Given the description of an element on the screen output the (x, y) to click on. 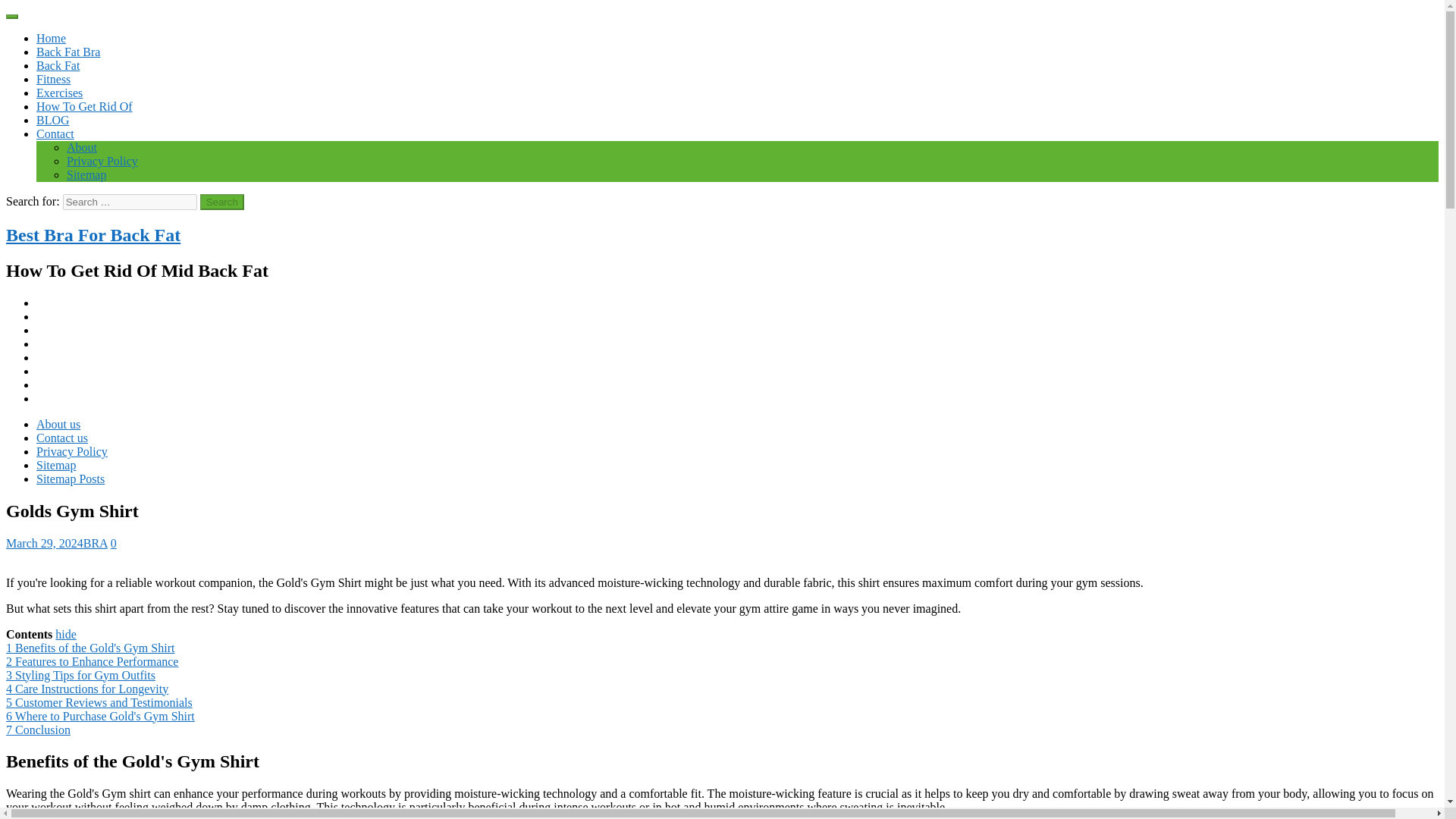
About us (58, 423)
6 Where to Purchase Gold's Gym Shirt (100, 716)
Back Fat Bra (68, 51)
Home (50, 38)
About (81, 146)
March 29, 2024 (43, 543)
Privacy Policy (102, 160)
5 Customer Reviews and Testimonials (98, 702)
Sitemap Posts (70, 478)
Search (222, 201)
